Given the description of an element on the screen output the (x, y) to click on. 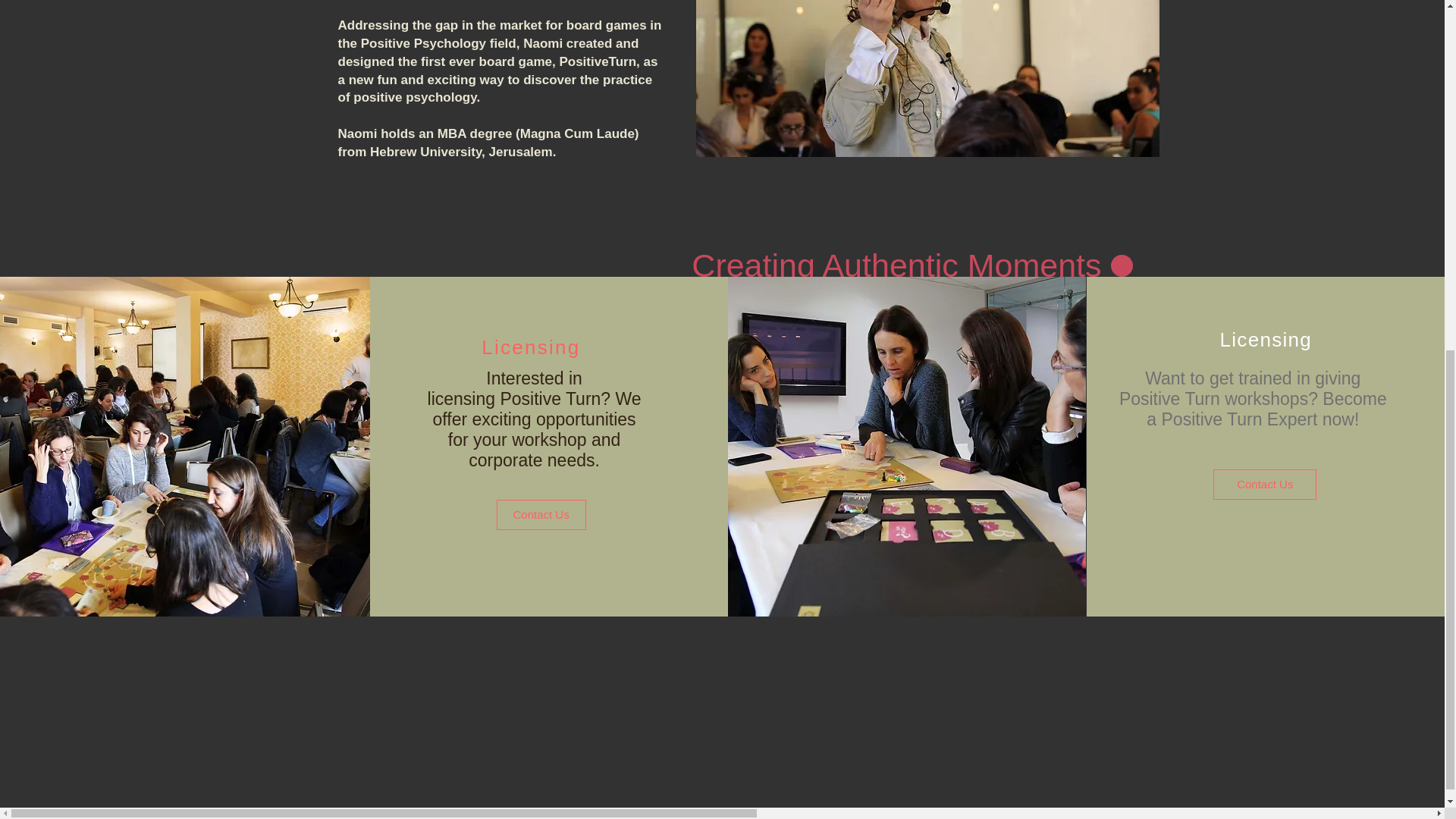
Contact Us (1264, 484)
Contact Us (541, 514)
